Given the description of an element on the screen output the (x, y) to click on. 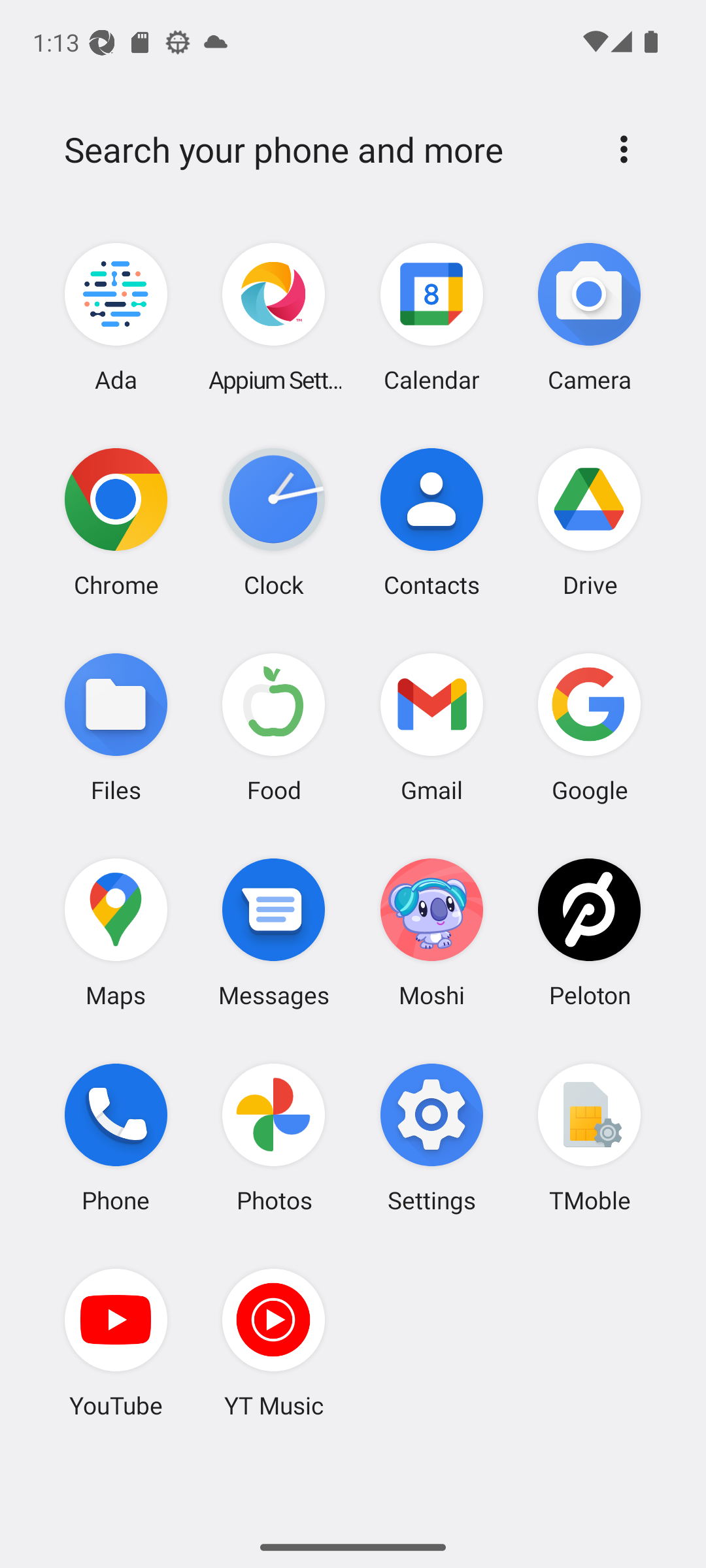
Search your phone and more (321, 149)
Preferences (623, 149)
Ada (115, 317)
Appium Settings (273, 317)
Calendar (431, 317)
Camera (589, 317)
Chrome (115, 522)
Clock (273, 522)
Contacts (431, 522)
Drive (589, 522)
Files (115, 726)
Food (273, 726)
Gmail (431, 726)
Google (589, 726)
Maps (115, 931)
Messages (273, 931)
Moshi (431, 931)
Peloton (589, 931)
Phone (115, 1137)
Photos (273, 1137)
Settings (431, 1137)
TMoble (589, 1137)
YouTube (115, 1342)
YT Music (273, 1342)
